Given the description of an element on the screen output the (x, y) to click on. 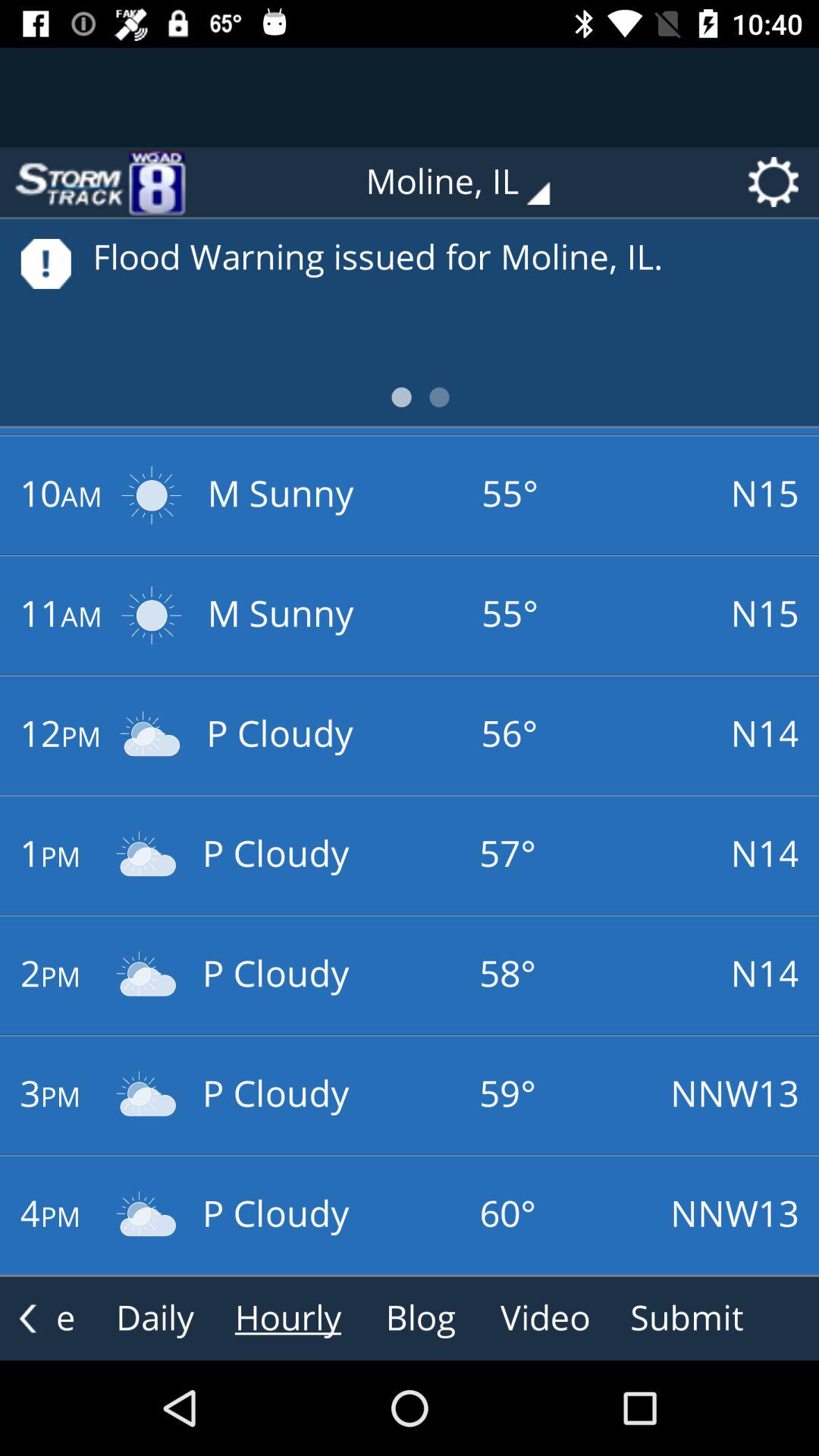
select the second sun icon right to 11am (151, 614)
select the cloud icon on the right next to the text 4pm on the web page (146, 1214)
select the text right to hourly (420, 1318)
select the option daily (155, 1318)
